Given the description of an element on the screen output the (x, y) to click on. 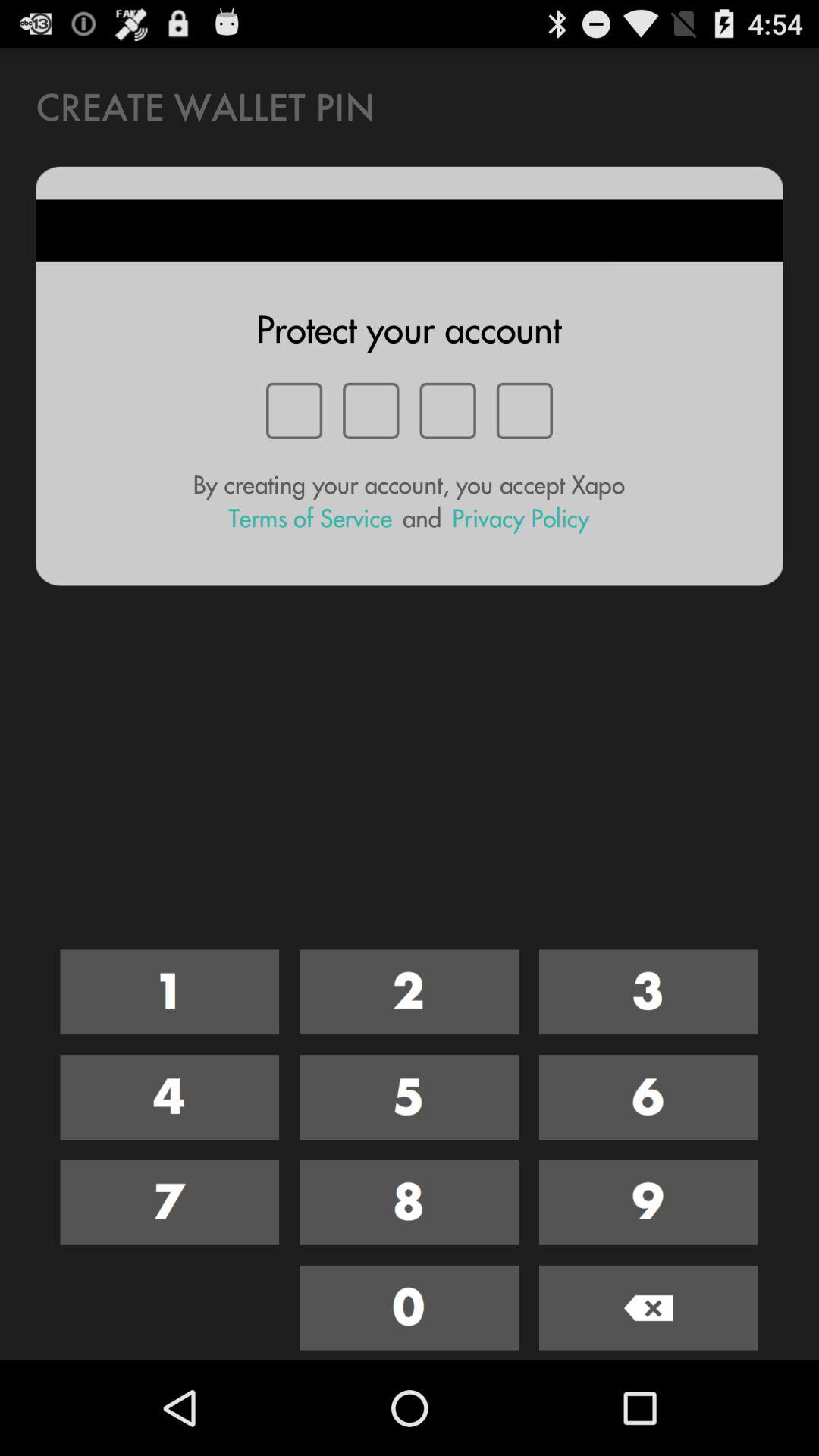
select number 4 (169, 1097)
